Given the description of an element on the screen output the (x, y) to click on. 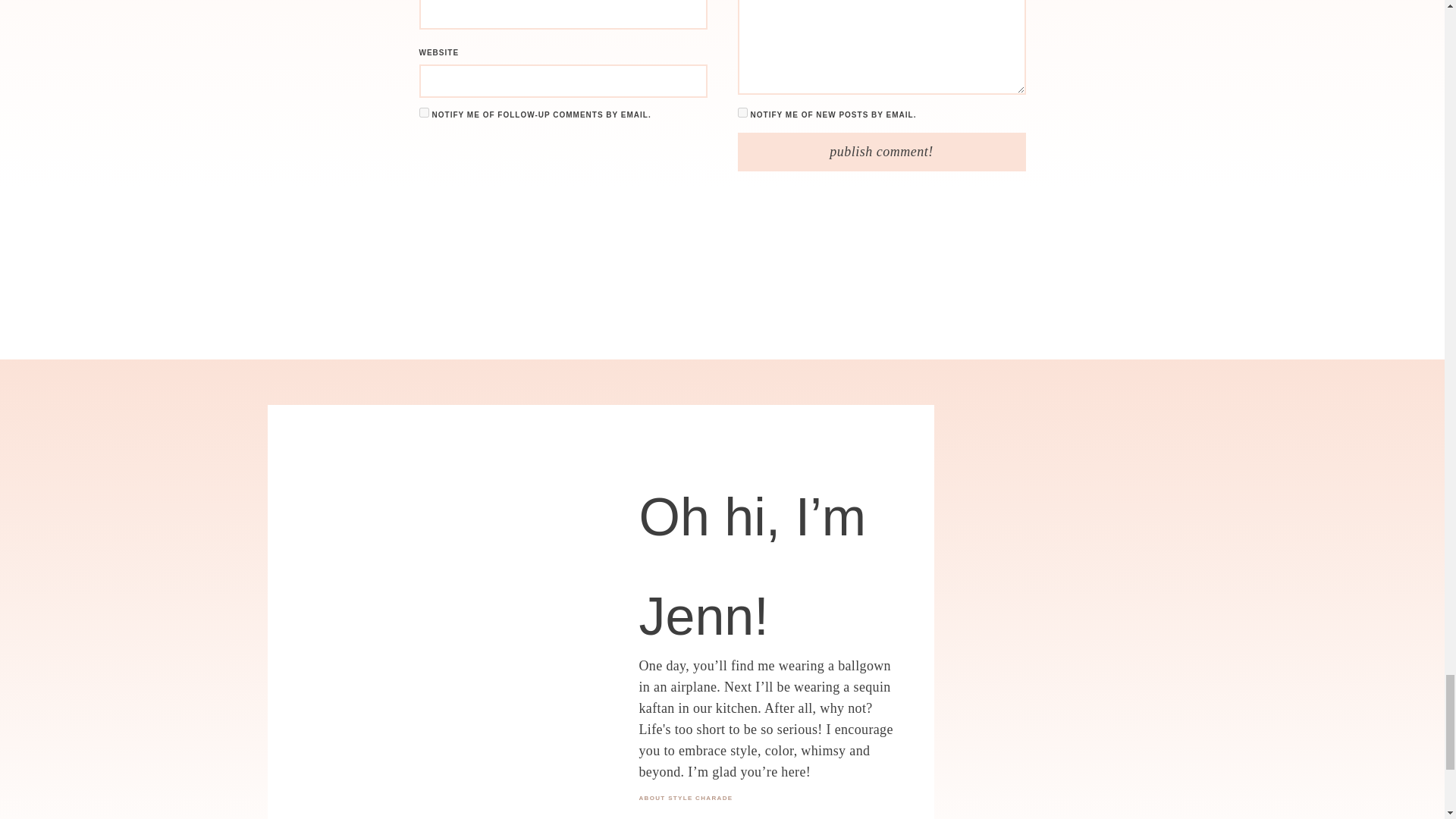
subscribe (741, 112)
Publish Comment! (880, 151)
subscribe (423, 112)
